Given the description of an element on the screen output the (x, y) to click on. 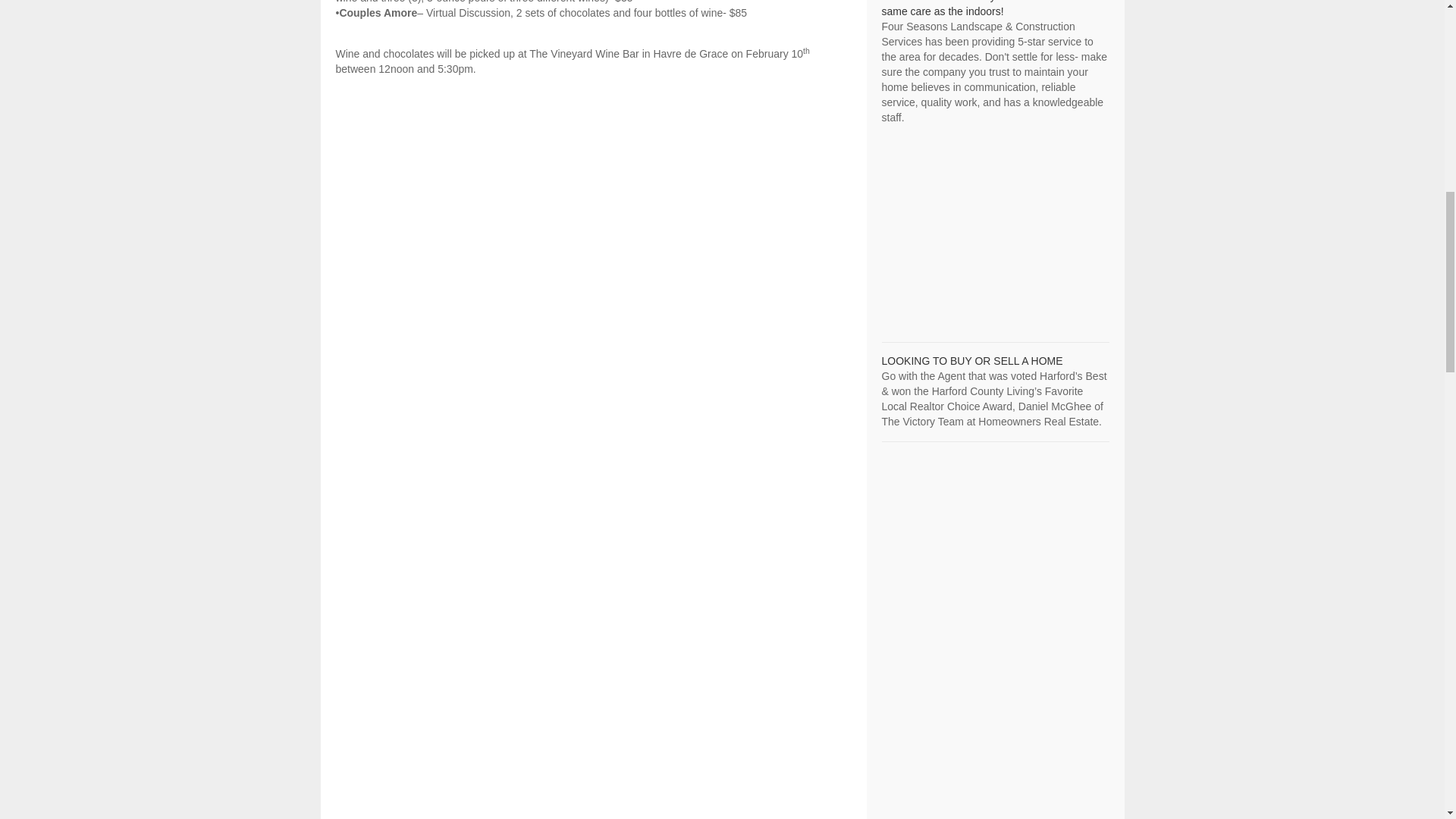
The Victory Team at Homeowners Real Estate (971, 360)
3rd party ad content (994, 227)
